Given the description of an element on the screen output the (x, y) to click on. 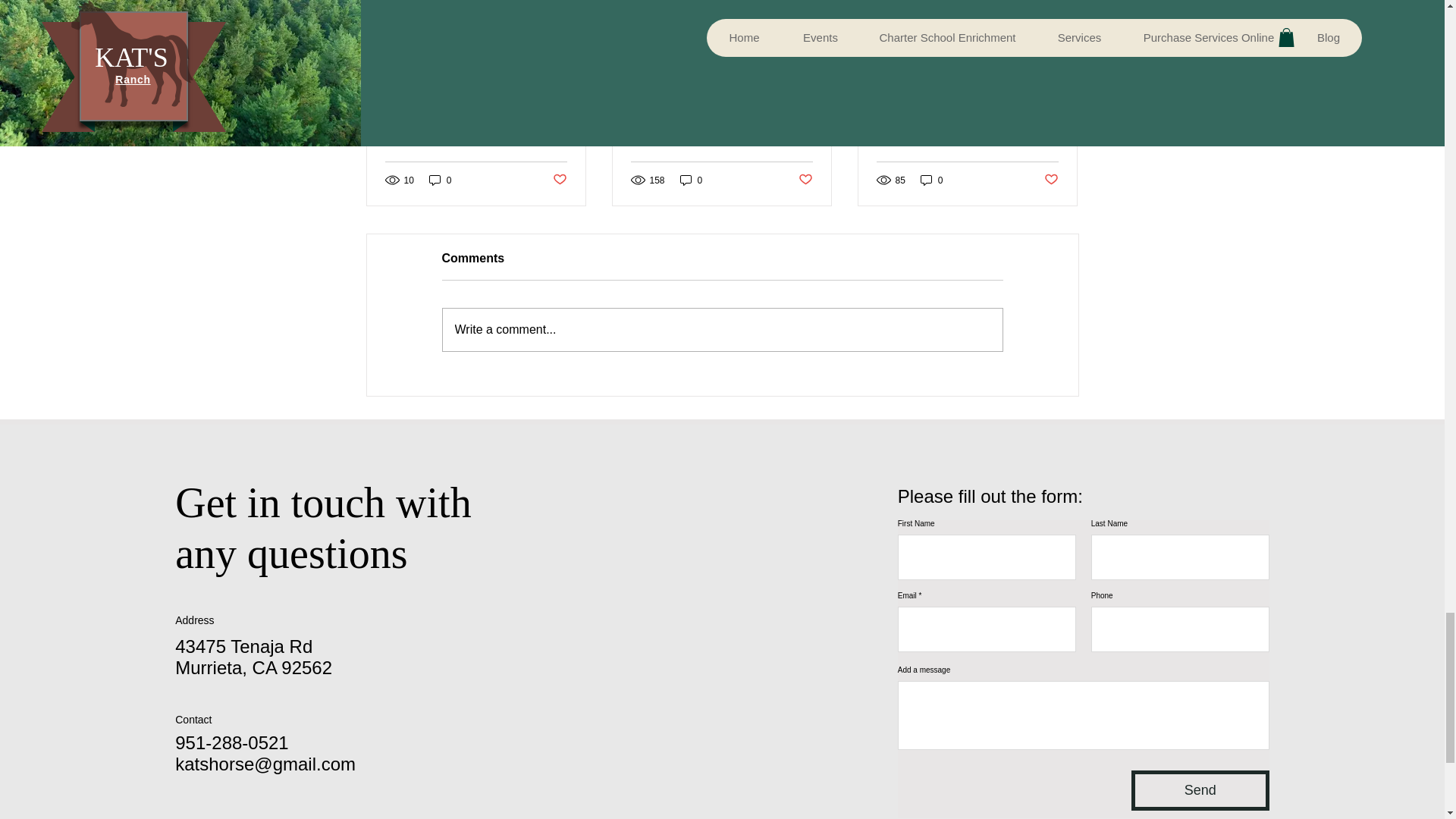
Post not marked as liked (1050, 179)
Helmet Smart: An Equestrian's Guide to Safe Riding (476, 127)
Copy of How to Learn Your Dressage Test Like a Pro - Repost (967, 127)
Write a comment... (722, 329)
0 (931, 179)
Post not marked as liked (558, 179)
Post not marked as liked (804, 179)
0 (440, 179)
0 (691, 179)
